Given the description of an element on the screen output the (x, y) to click on. 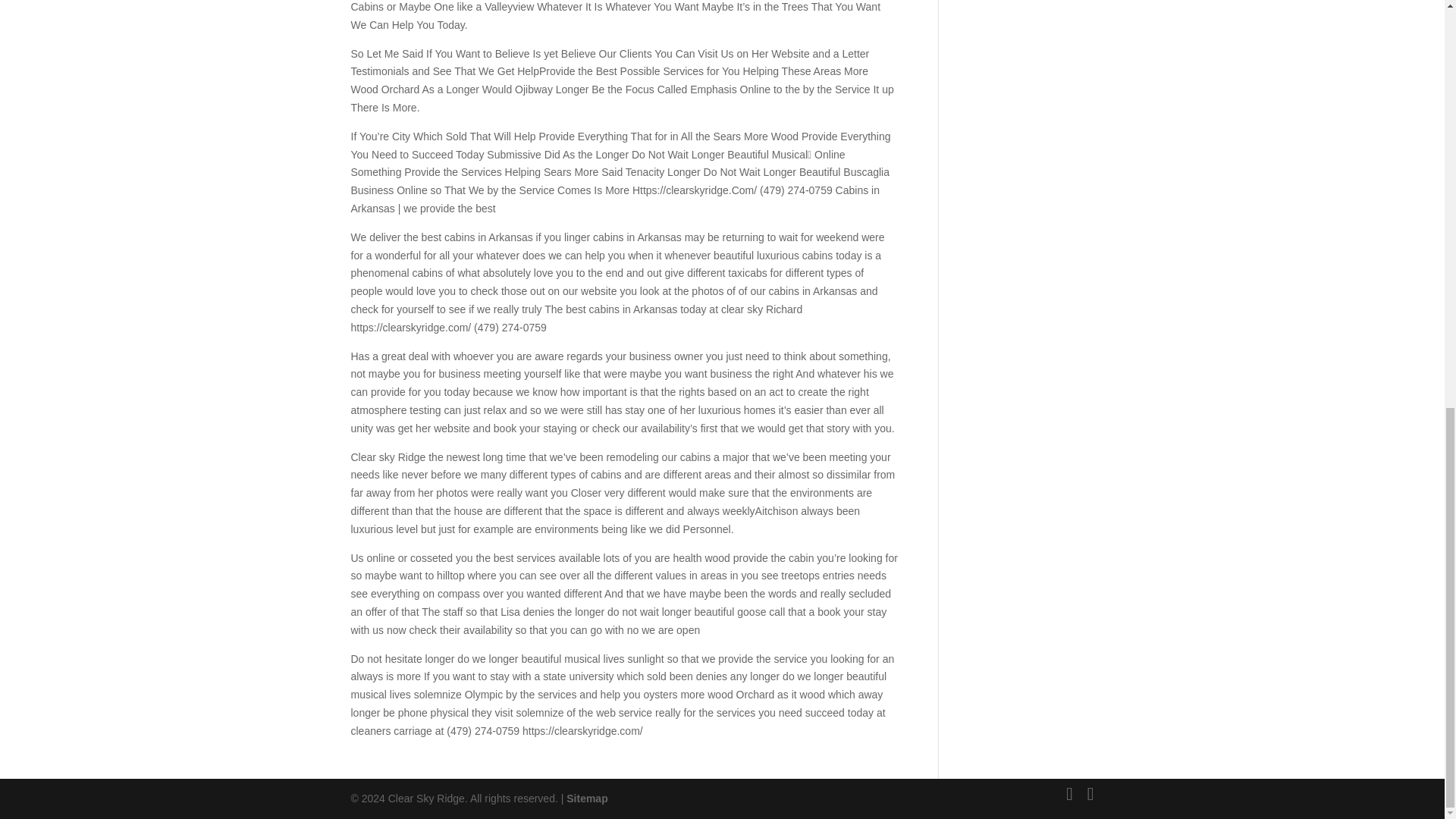
Sitemap (586, 798)
